Given the description of an element on the screen output the (x, y) to click on. 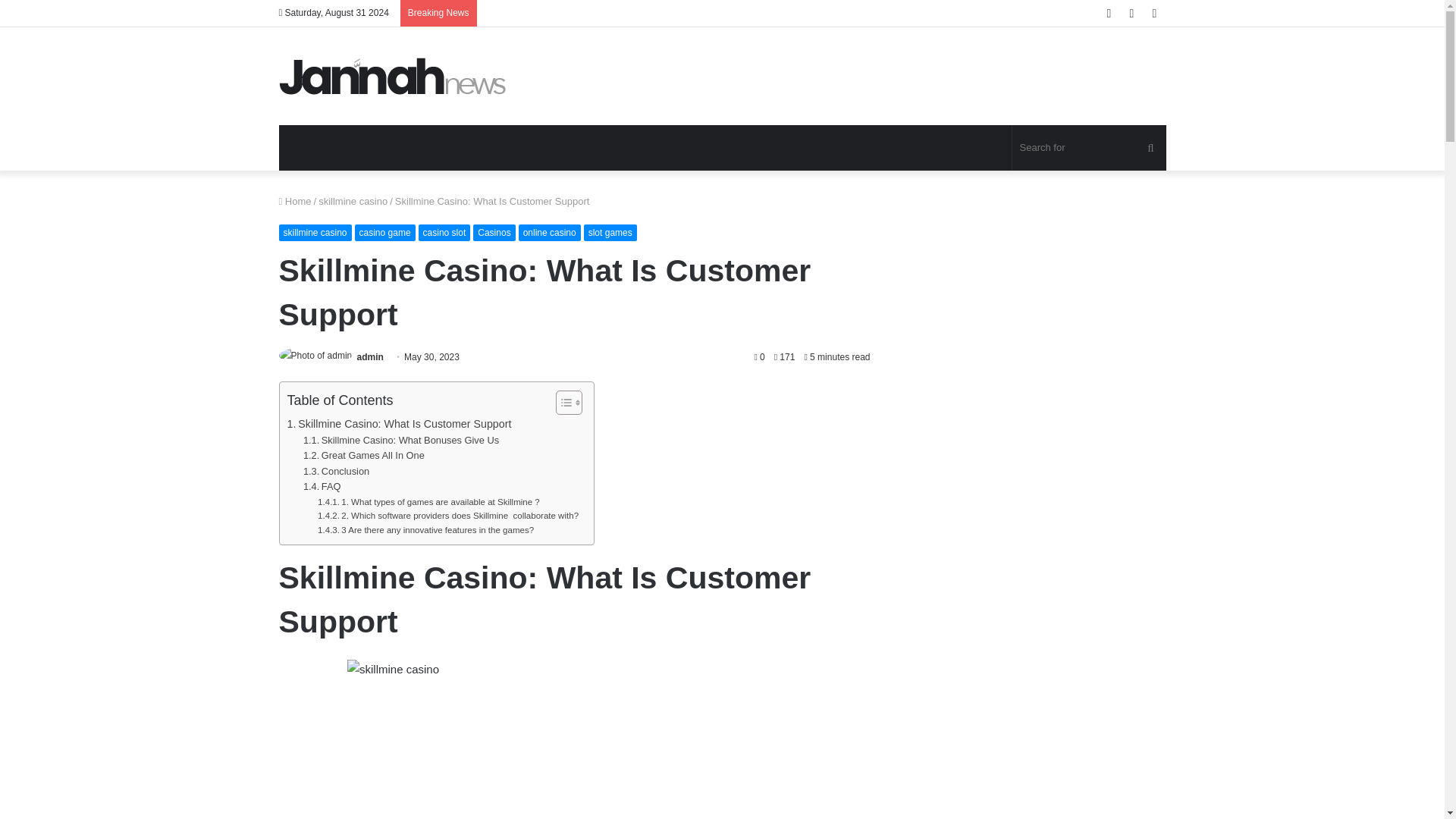
FAQ (321, 487)
BetCash (392, 76)
Skillmine Casino: What Bonuses Give Us (400, 440)
1. What types of games are available at Skillmine ? (428, 501)
online casino (549, 232)
Skillmine Casino: What Is Customer Support (398, 424)
Skillmine Casino: What Is Customer Support (398, 424)
Great Games All In One (363, 455)
Skillmine Casino: What Bonuses Give Us (400, 440)
Conclusion (335, 471)
